Given the description of an element on the screen output the (x, y) to click on. 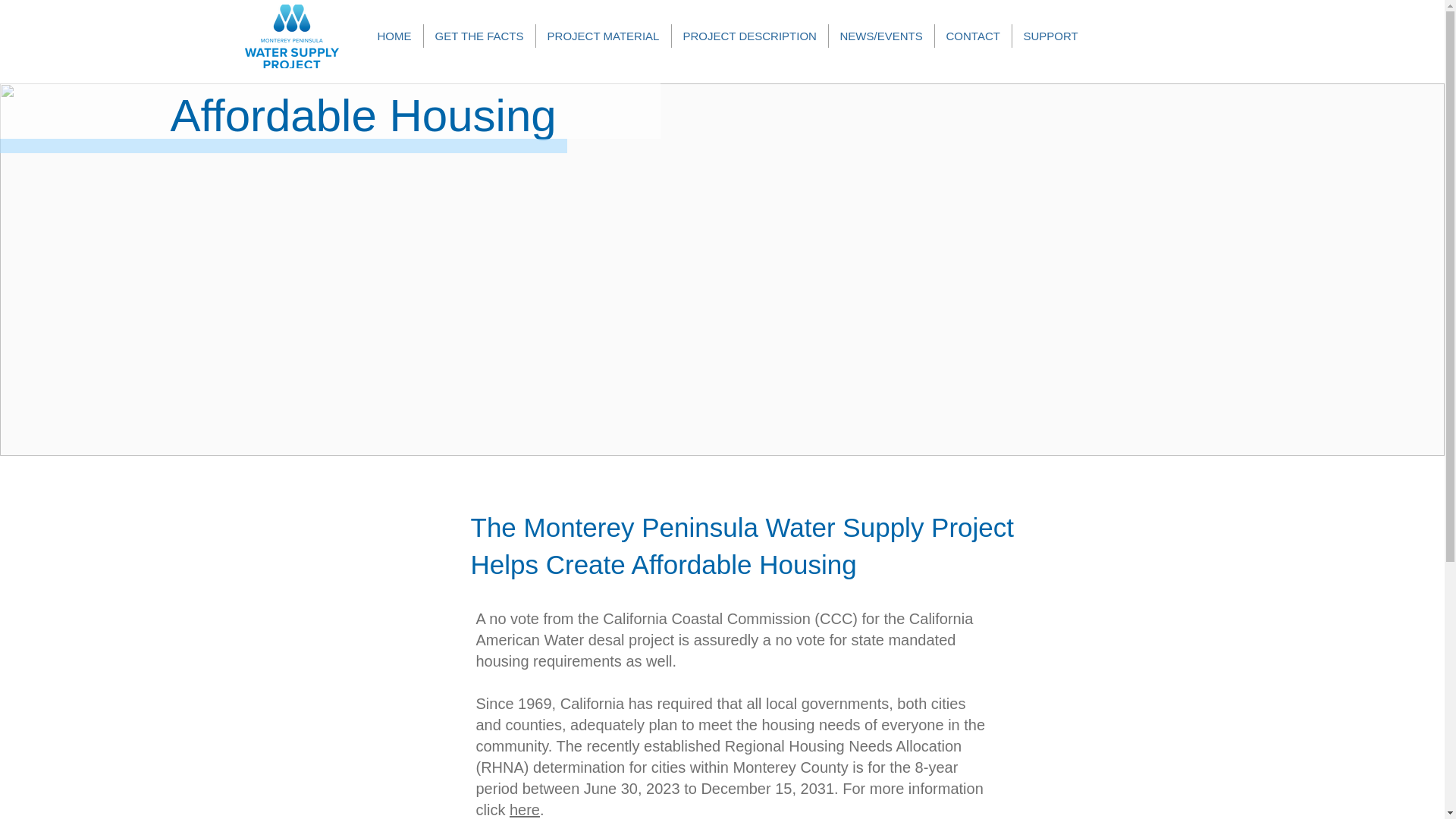
PROJECT MATERIAL (602, 35)
HOME (393, 35)
PROJECT DESCRIPTION (749, 35)
CONTACT (972, 35)
here (524, 809)
SUPPORT (1050, 35)
